Given the description of an element on the screen output the (x, y) to click on. 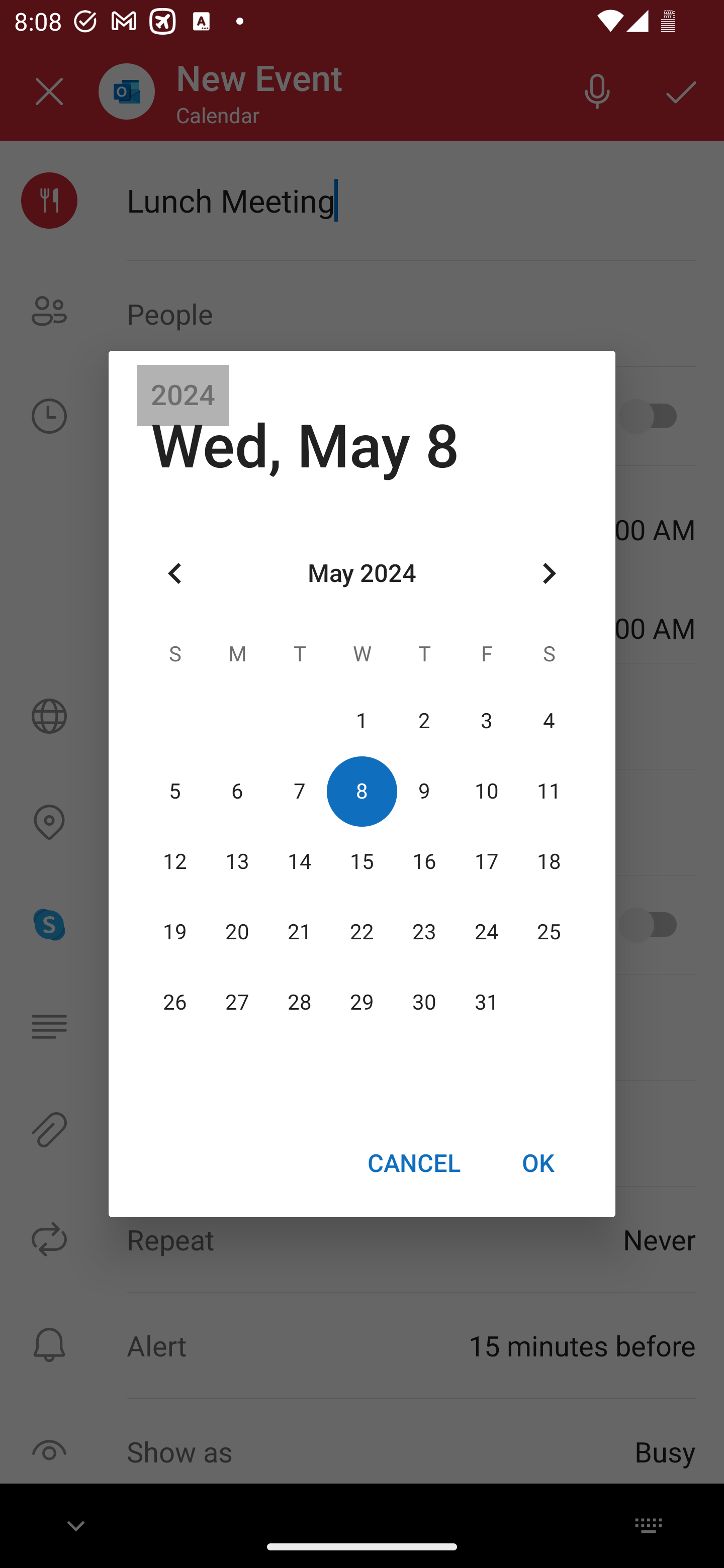
2024 (182, 395)
Wed, May 8 (304, 446)
Previous month (174, 573)
Next month (548, 573)
1 01 May 2024 (361, 720)
2 02 May 2024 (424, 720)
3 03 May 2024 (486, 720)
4 04 May 2024 (548, 720)
5 05 May 2024 (175, 790)
6 06 May 2024 (237, 790)
7 07 May 2024 (299, 790)
8 08 May 2024 (361, 790)
9 09 May 2024 (424, 790)
10 10 May 2024 (486, 790)
11 11 May 2024 (548, 790)
12 12 May 2024 (175, 861)
13 13 May 2024 (237, 861)
14 14 May 2024 (299, 861)
15 15 May 2024 (361, 861)
16 16 May 2024 (424, 861)
